Given the description of an element on the screen output the (x, y) to click on. 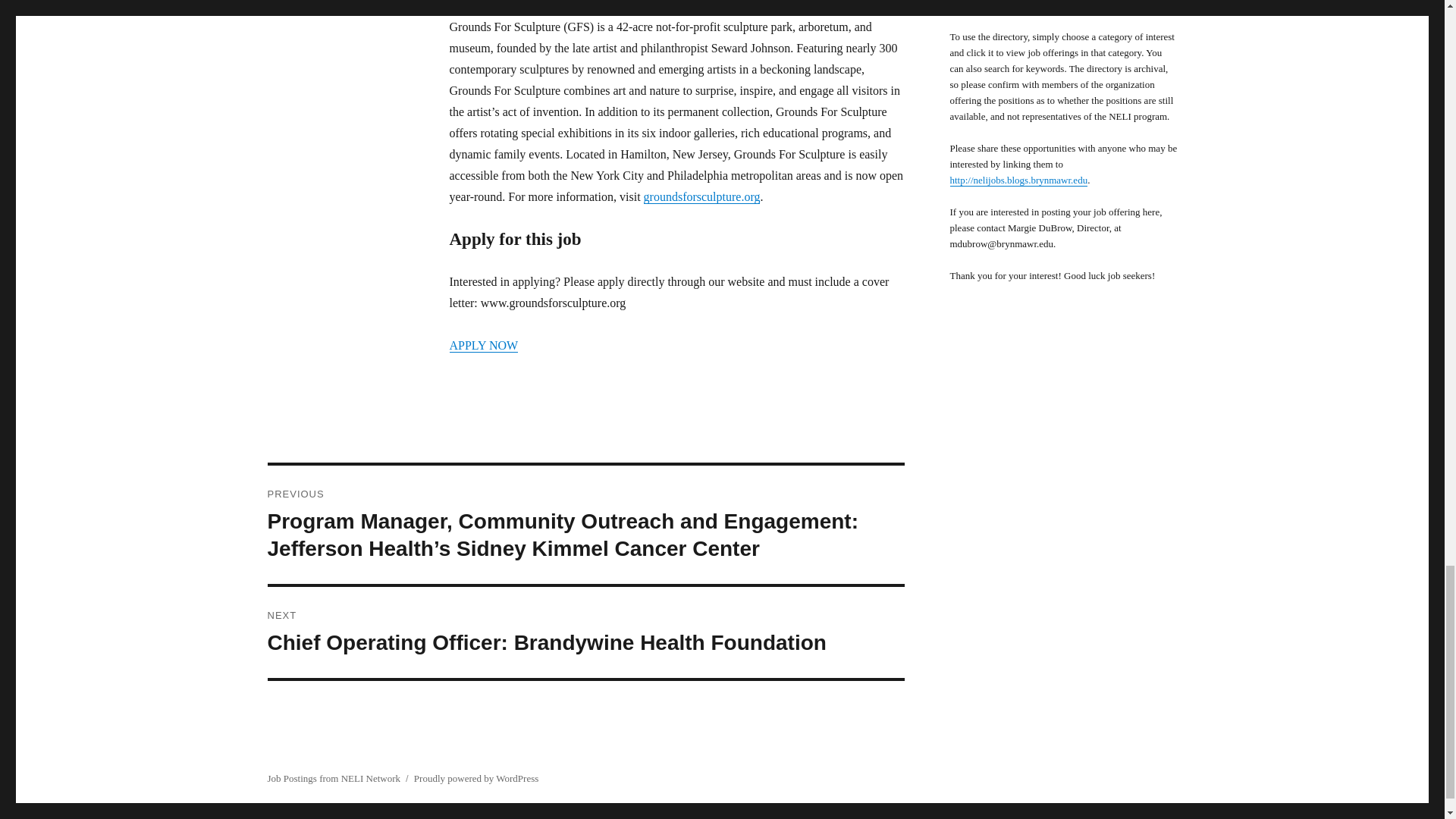
APPLY NOW (483, 345)
groundsforsculpture.org (701, 196)
